Given the description of an element on the screen output the (x, y) to click on. 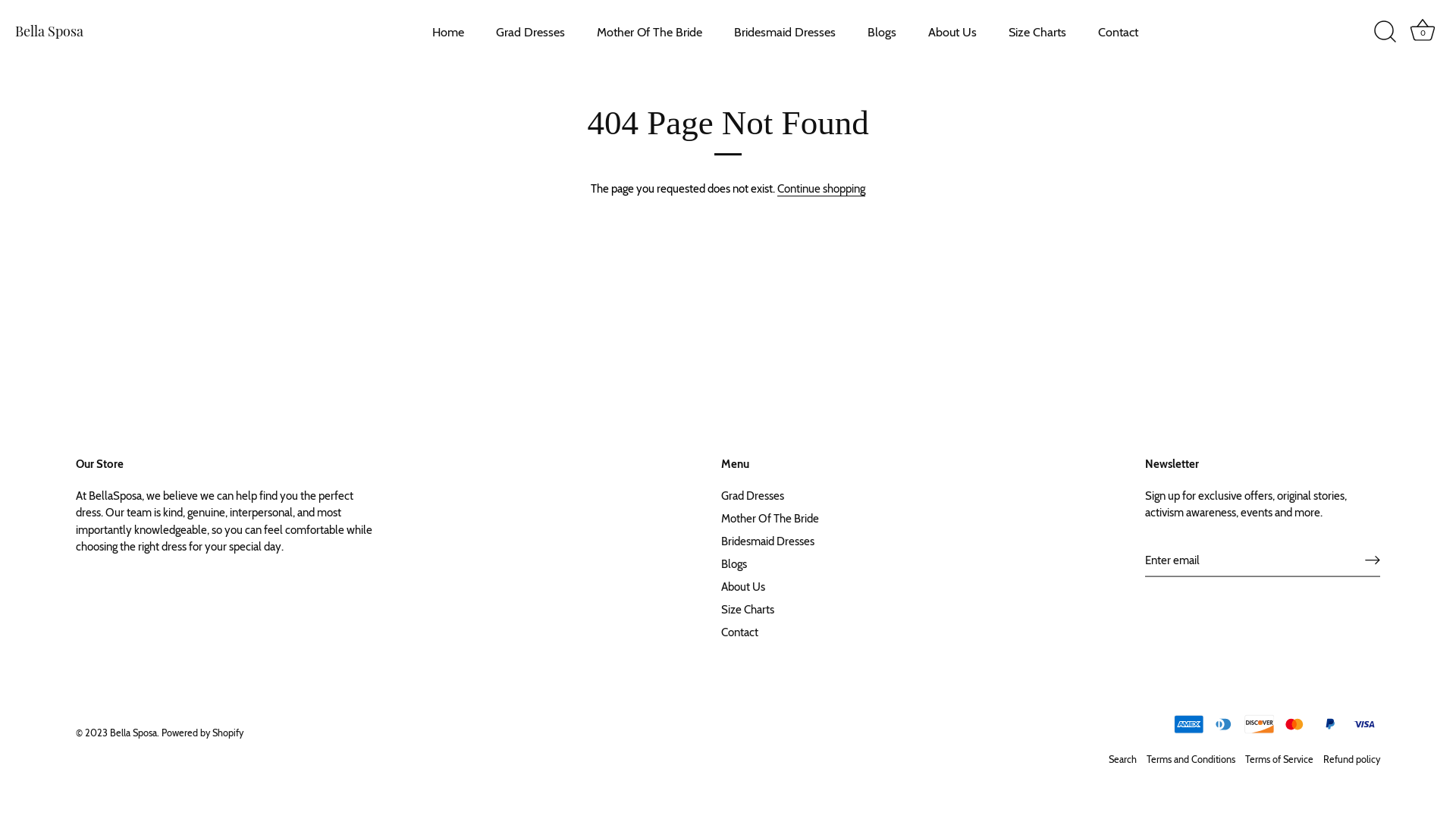
Basket
0 Element type: text (1422, 31)
Search Element type: text (1122, 758)
About Us Element type: text (742, 586)
Terms and Conditions Element type: text (1190, 758)
Bridesmaid Dresses Element type: text (766, 540)
Blogs Element type: text (733, 563)
Blogs Element type: text (881, 32)
Mother Of The Bride Element type: text (649, 32)
Grad Dresses Element type: text (530, 32)
Mother Of The Bride Element type: text (769, 517)
Size Charts Element type: text (1036, 32)
About Us Element type: text (952, 32)
Size Charts Element type: text (746, 608)
Grad Dresses Element type: text (751, 495)
Powered by Shopify Element type: text (202, 731)
Terms of Service Element type: text (1279, 758)
Continue shopping Element type: text (821, 189)
Bridesmaid Dresses Element type: text (784, 32)
Bella Sposa Element type: text (109, 30)
RIGHT ARROW LONG Element type: text (1372, 559)
Bella Sposa Element type: text (132, 731)
Refund policy Element type: text (1351, 758)
Contact Element type: text (1117, 32)
Contact Element type: text (738, 631)
Home Element type: text (448, 32)
